Given the description of an element on the screen output the (x, y) to click on. 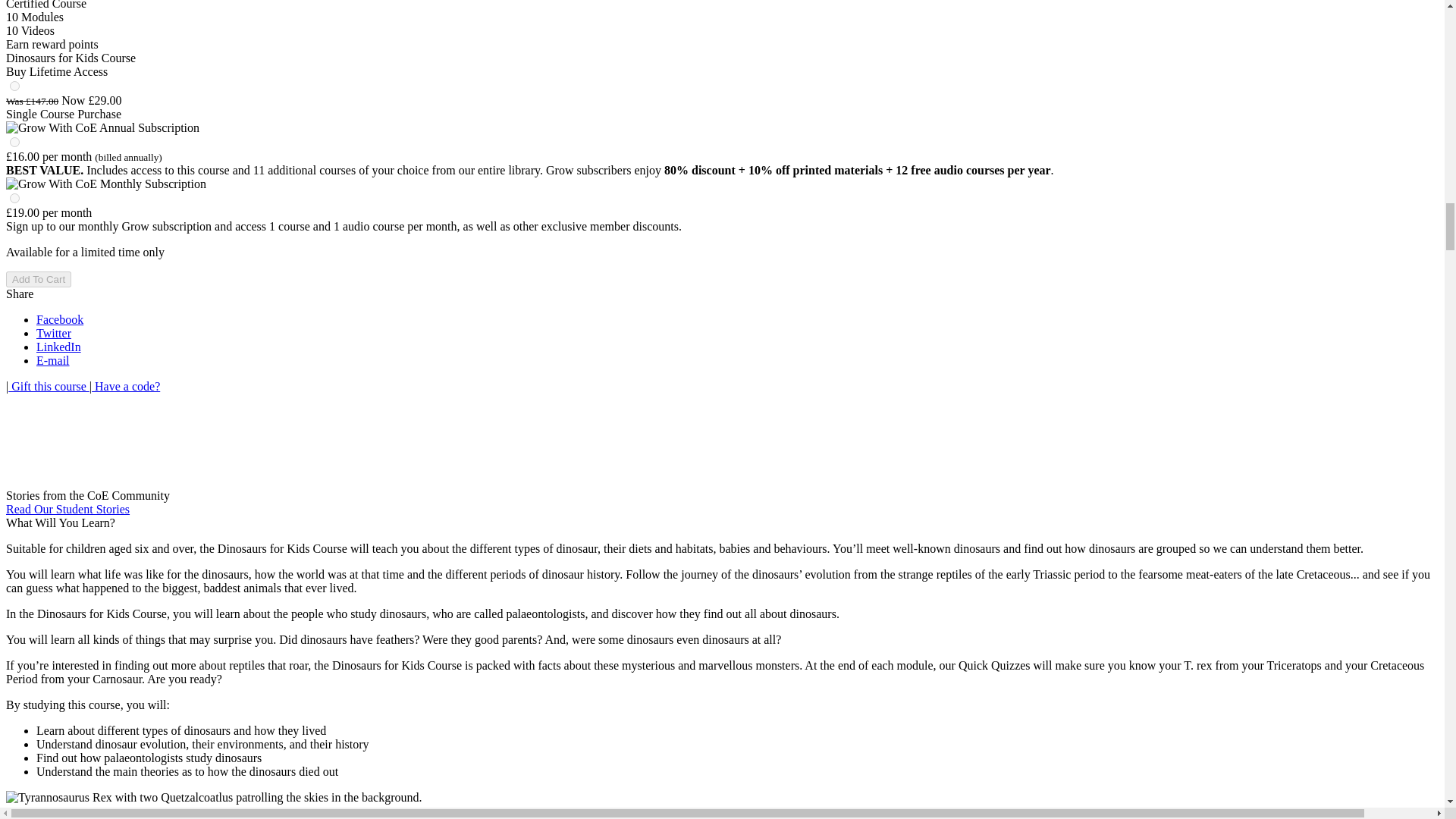
Read Our Student Stories (67, 508)
